Given the description of an element on the screen output the (x, y) to click on. 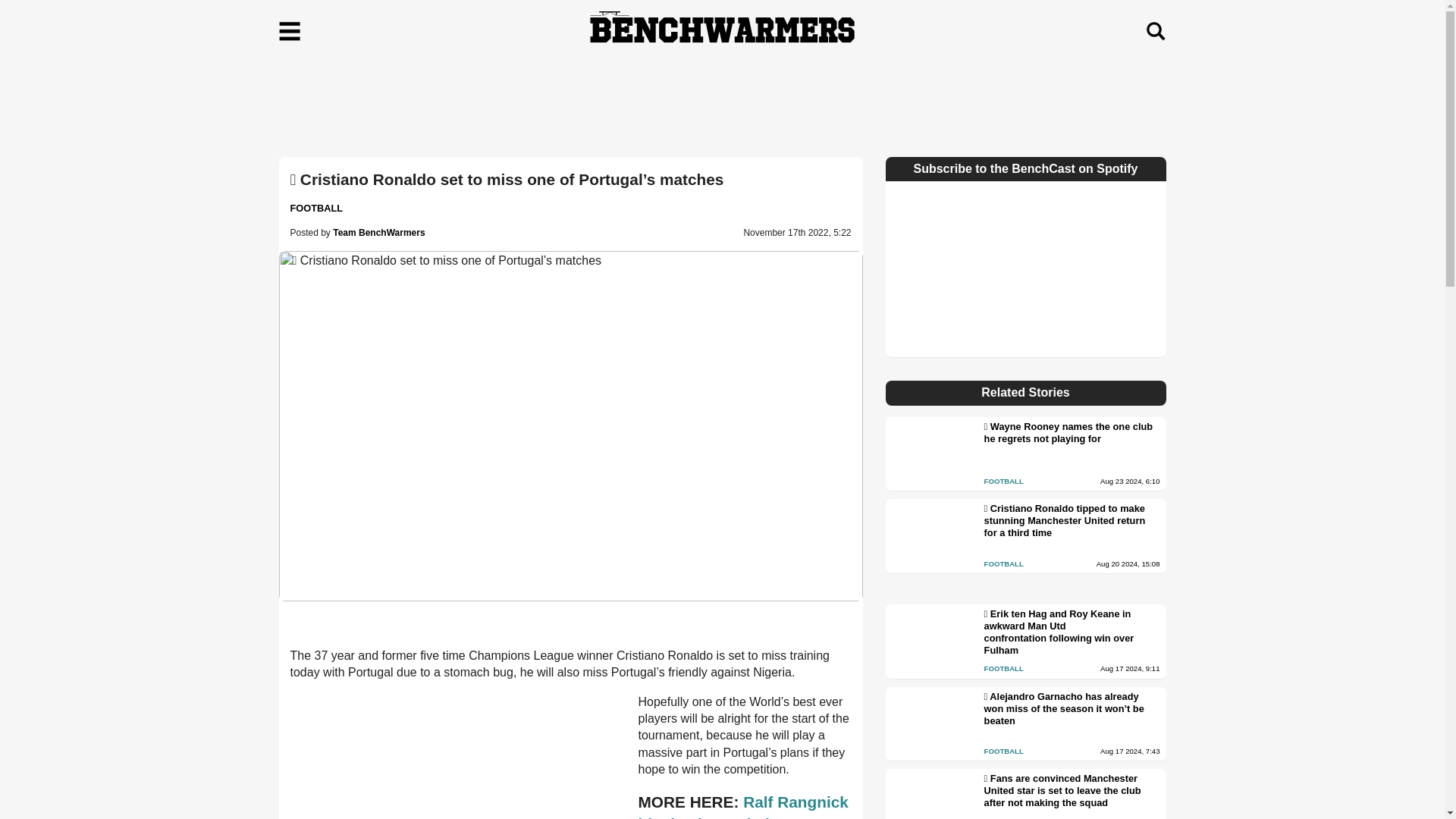
Menu (289, 30)
Search (1155, 30)
View more articles by Team BenchWarmers (379, 232)
Team BenchWarmers (379, 232)
FOOTBALL (315, 207)
Latest Football News (315, 207)
